Given the description of an element on the screen output the (x, y) to click on. 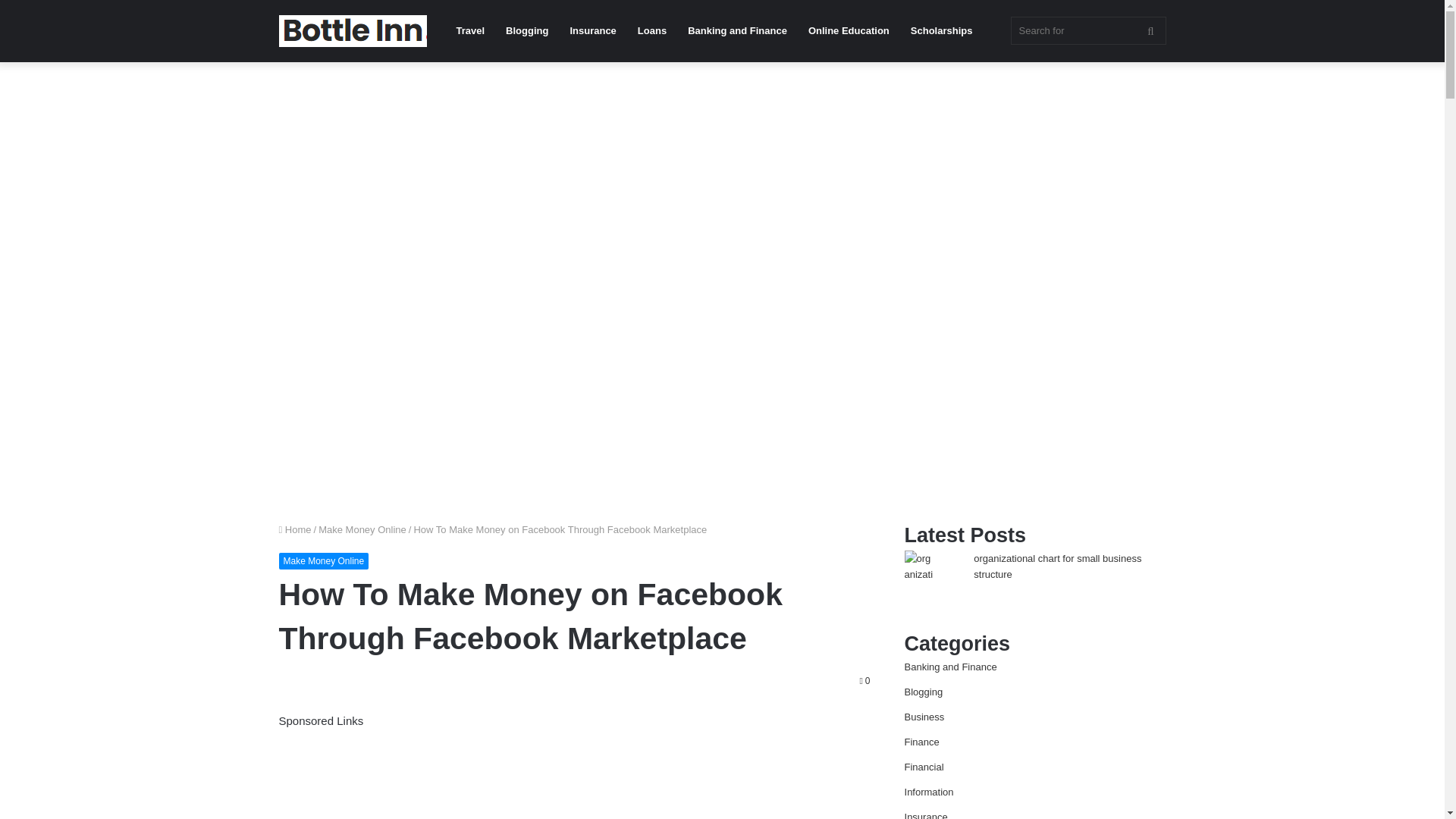
Scholarships (941, 31)
Banking and Finance (737, 31)
Bottle Inn (352, 30)
Make Money Online (362, 529)
Insurance (592, 31)
Make Money Online (324, 560)
Search for (1088, 30)
Advertisement (574, 775)
Home (295, 529)
Online Education (848, 31)
Blogging (527, 31)
